Given the description of an element on the screen output the (x, y) to click on. 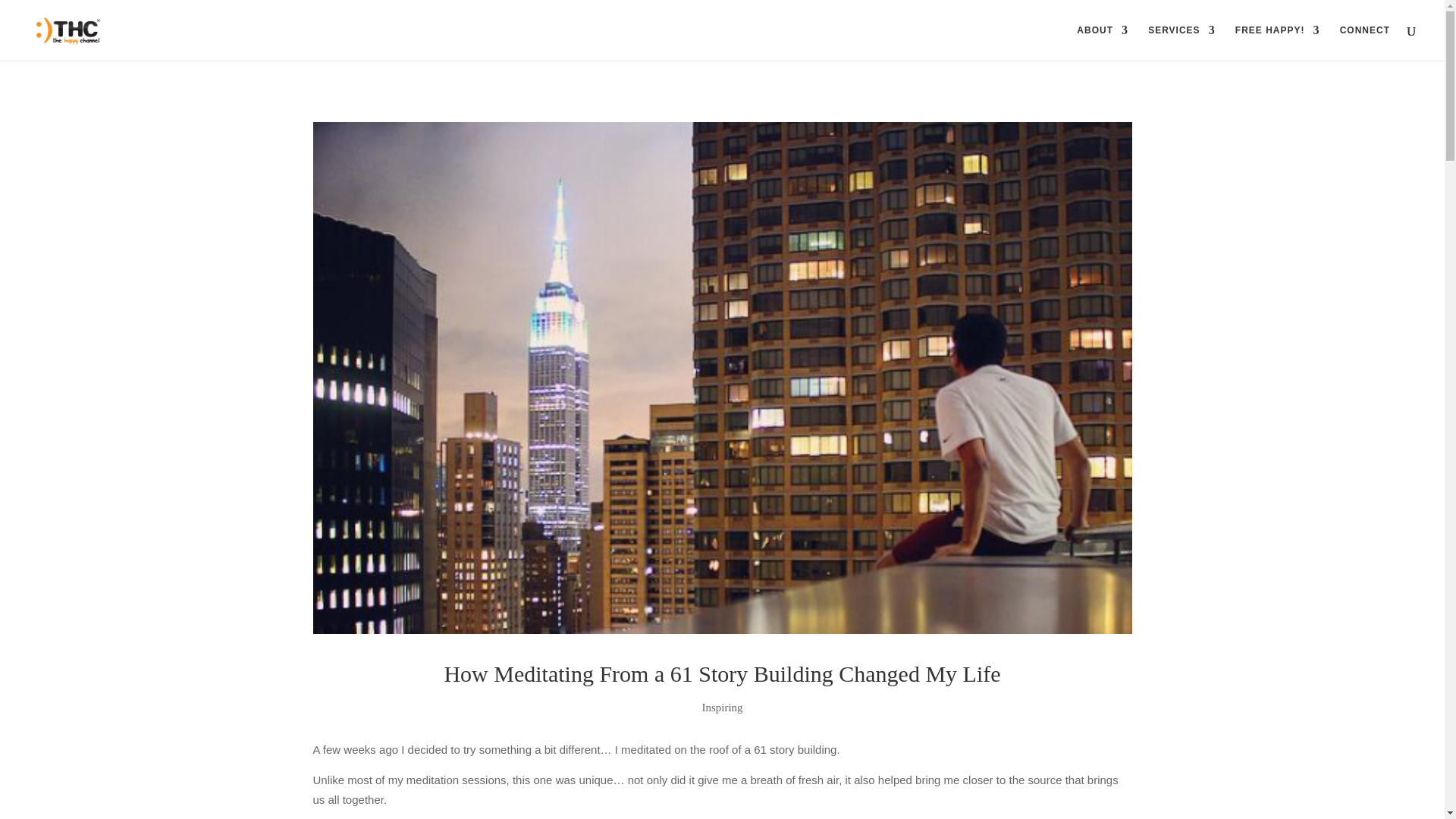
SERVICES (1181, 42)
CONNECT (1364, 42)
ABOUT (1102, 42)
Inspiring (721, 707)
FREE HAPPY! (1277, 42)
